Given the description of an element on the screen output the (x, y) to click on. 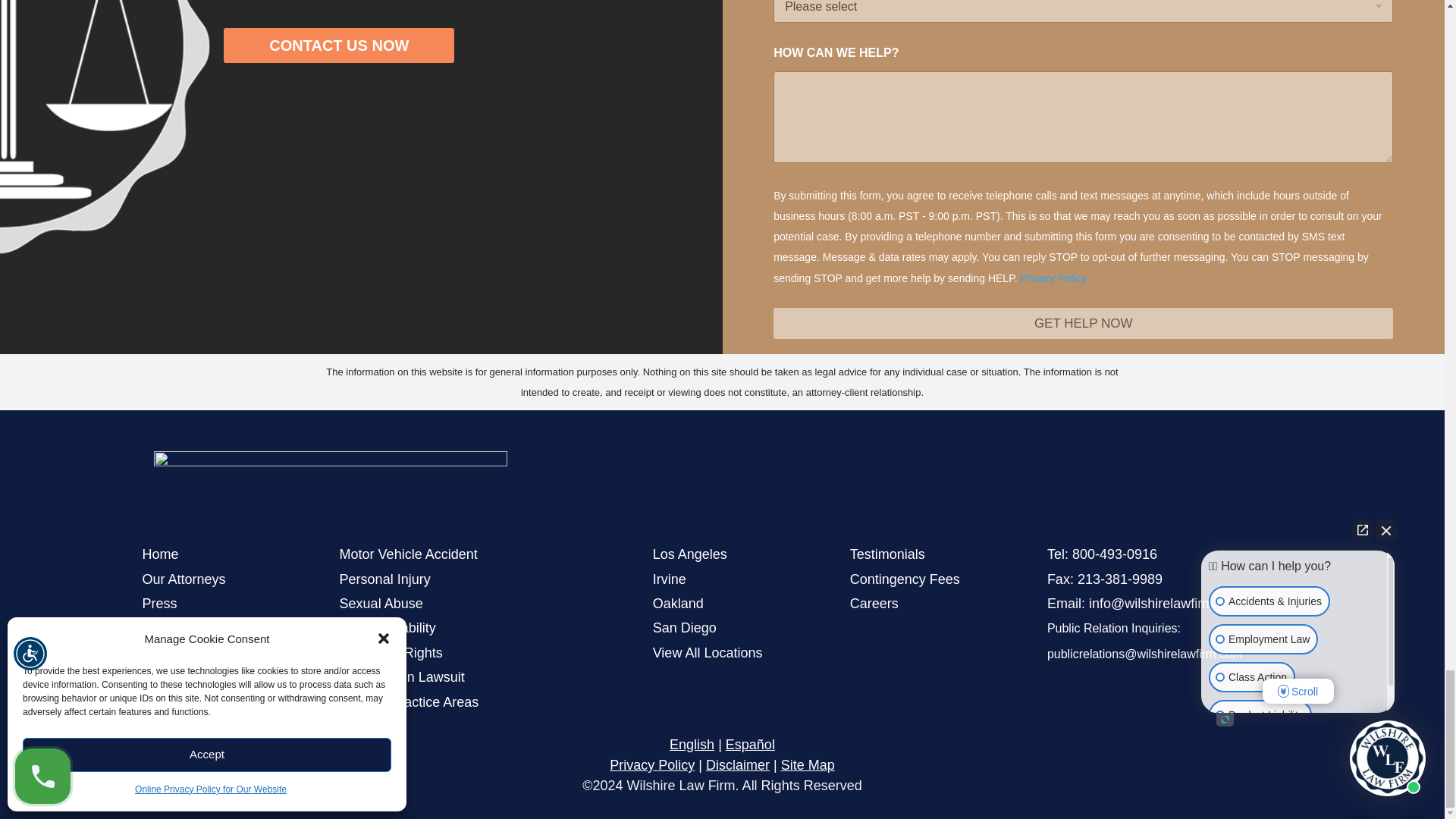
Test-WLFLogo-White-466x93-1 (329, 486)
